Given the description of an element on the screen output the (x, y) to click on. 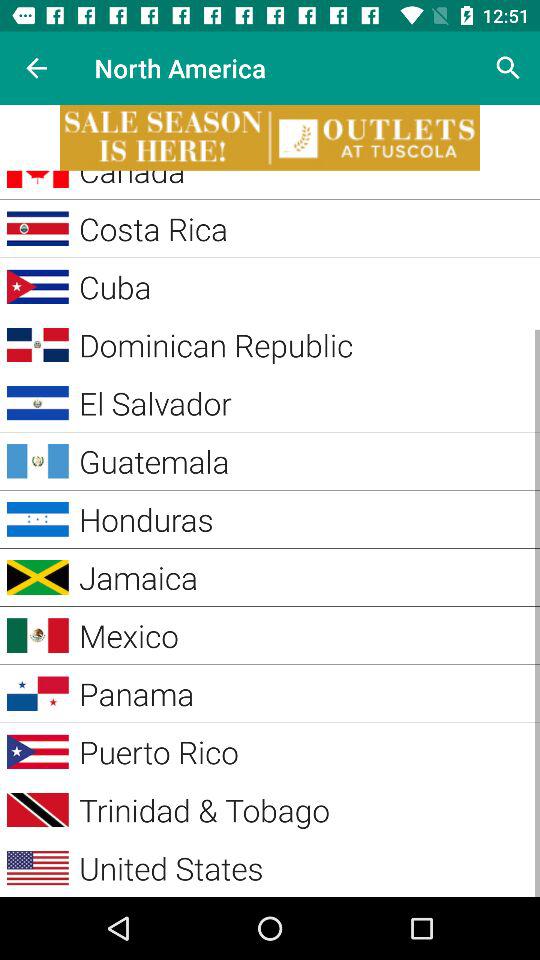
search (508, 67)
